Given the description of an element on the screen output the (x, y) to click on. 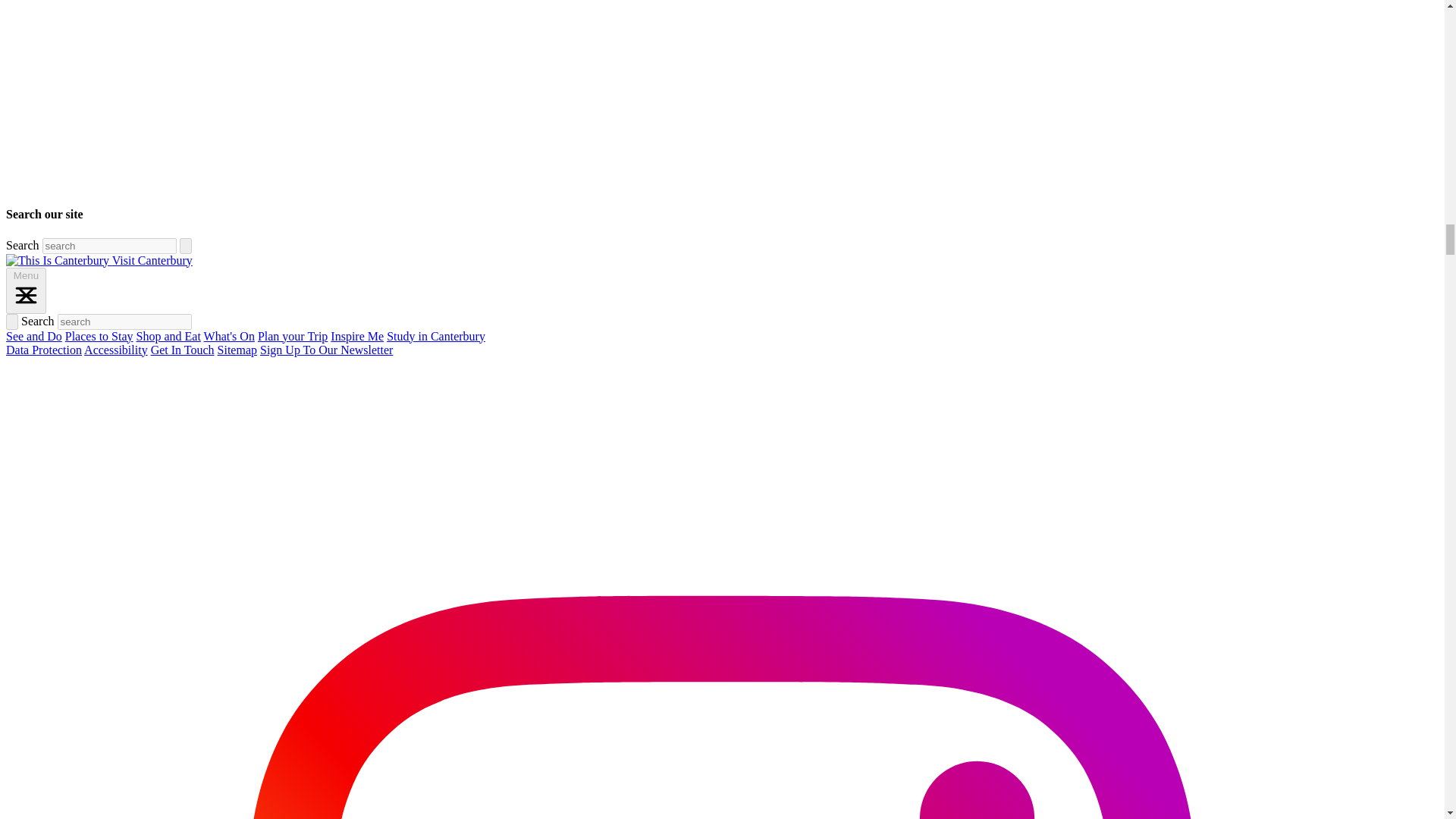
What's On (228, 336)
Shop and Eat (168, 336)
Inspire Me (357, 336)
Places to Stay (99, 336)
Data Protection (43, 349)
Study in Canterbury (435, 336)
Sitemap (236, 349)
Plan your Trip (292, 336)
Get In Touch (182, 349)
See and Do (33, 336)
